Given the description of an element on the screen output the (x, y) to click on. 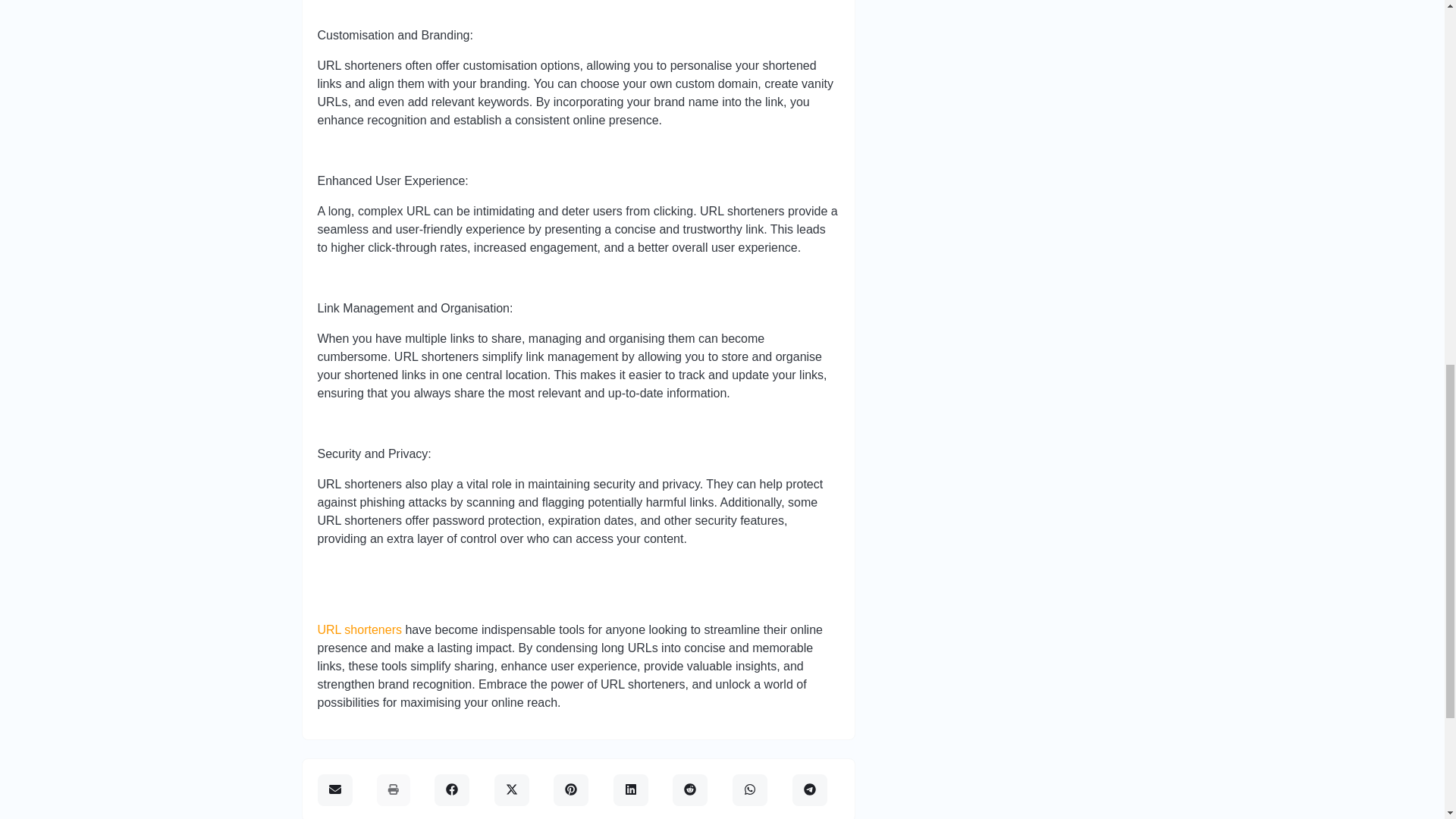
URL shorteners (359, 629)
